Given the description of an element on the screen output the (x, y) to click on. 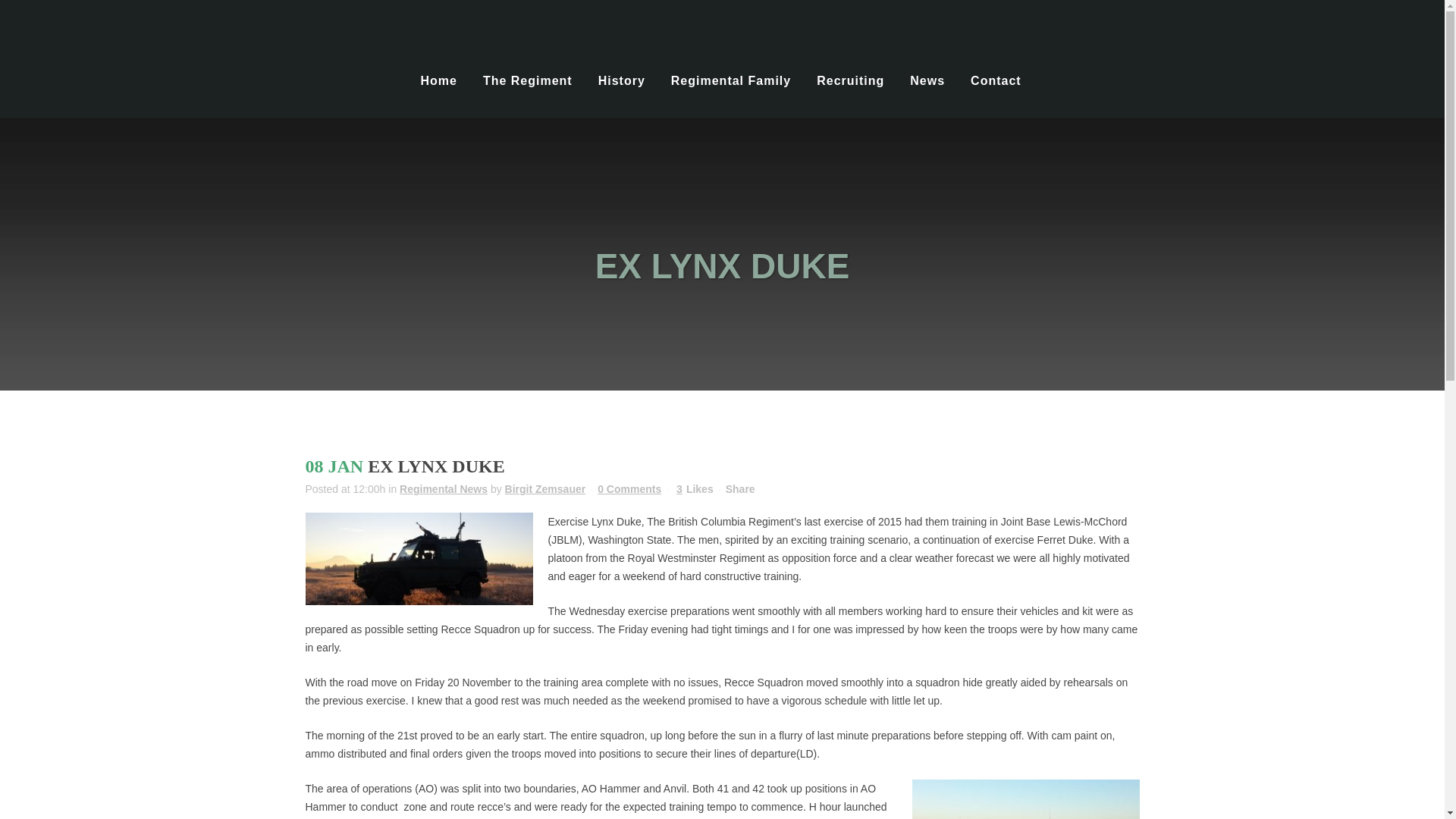
History (621, 79)
Home (437, 79)
Regimental Family (730, 79)
The Regiment (527, 79)
Like this (695, 489)
